Given the description of an element on the screen output the (x, y) to click on. 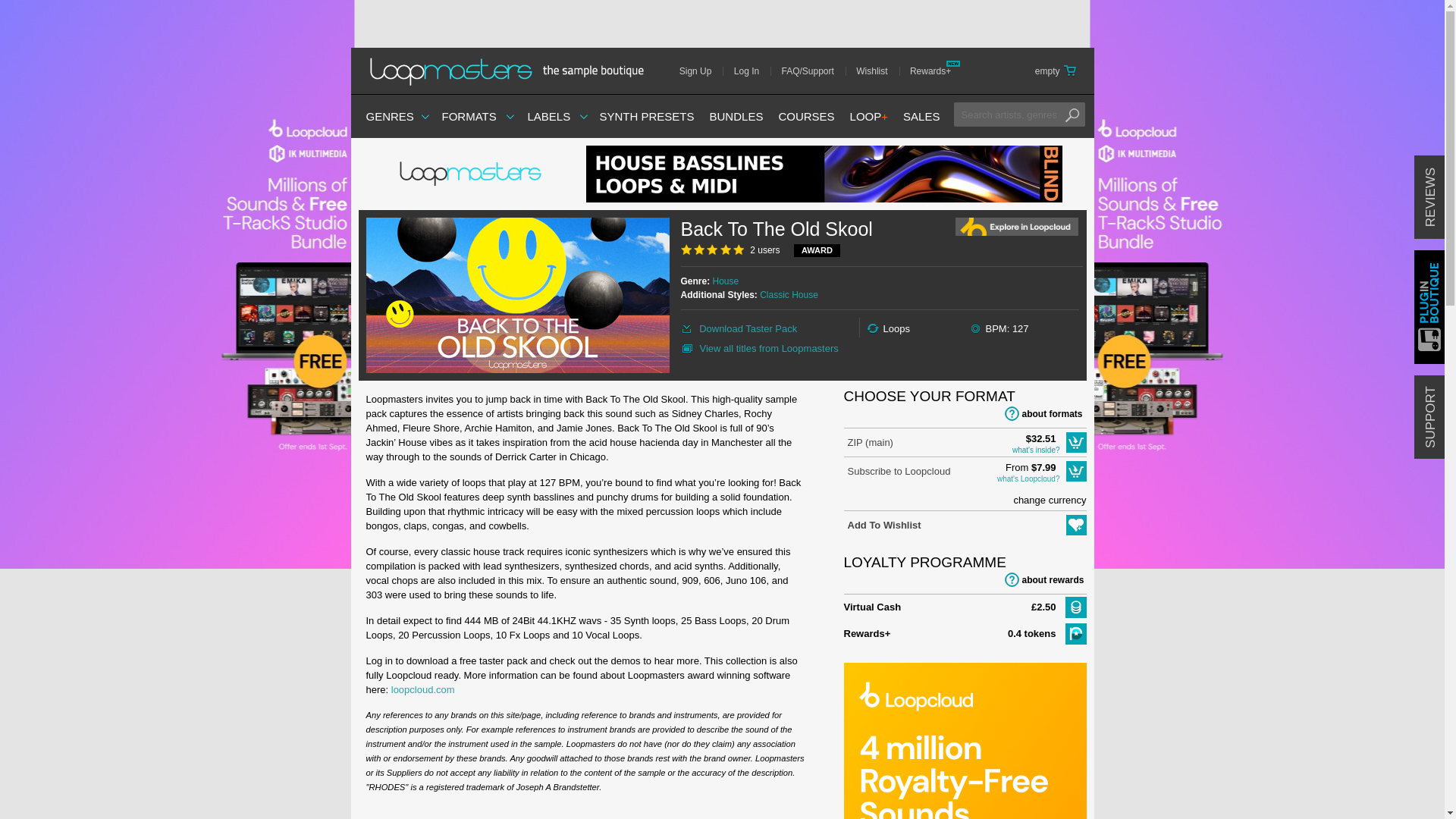
GENRES (389, 115)
Sign Up (701, 71)
Show all genres (389, 115)
Wishlist (877, 71)
Sign Up (701, 71)
Log In (752, 71)
Log In (752, 71)
Support and frequently questioned answers (812, 71)
Loopmasters - the sample boutique (511, 71)
Wishlist (877, 71)
